Given the description of an element on the screen output the (x, y) to click on. 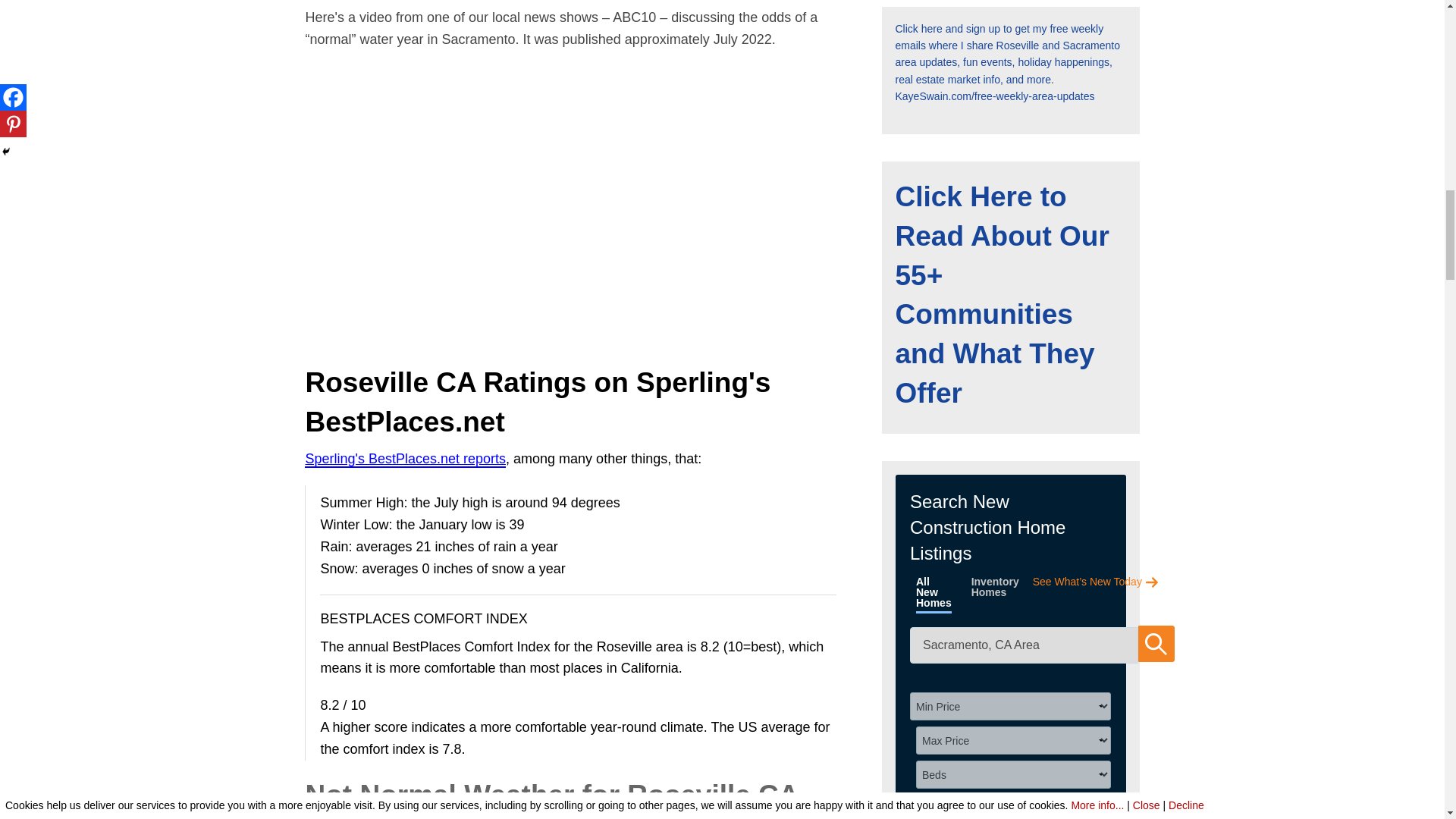
YouTube video player (577, 184)
Find Homes (1156, 643)
Sacramento, CA Area (1024, 645)
Sperling's BestPlaces.net reports (404, 459)
